Given the description of an element on the screen output the (x, y) to click on. 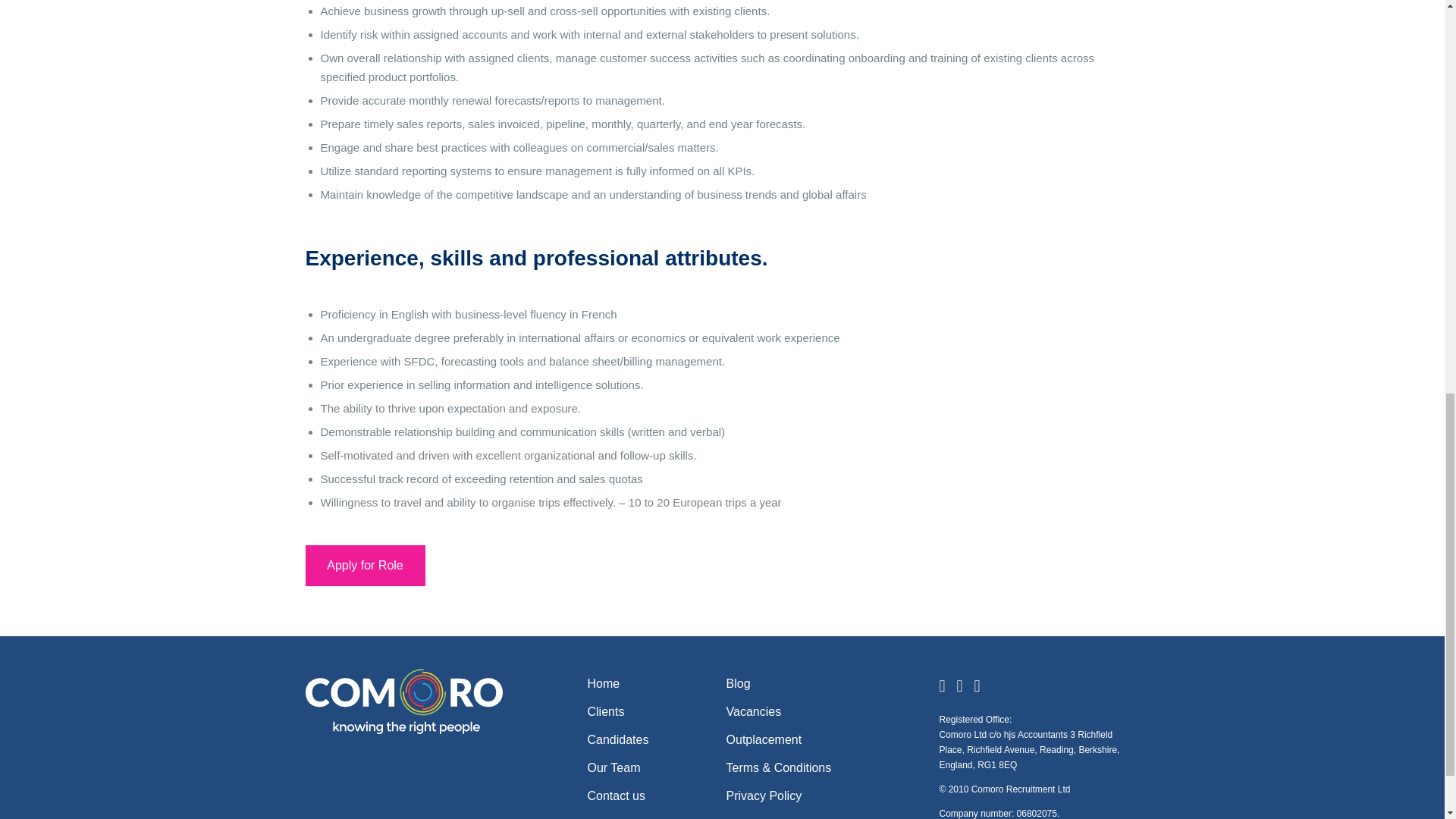
Apply for Role (364, 565)
Clients (605, 711)
Home (603, 683)
Contact us (615, 795)
Blog (738, 683)
Privacy Policy (764, 795)
Outplacement (764, 739)
Candidates (616, 739)
Our Team (613, 767)
Vacancies (753, 711)
